Given the description of an element on the screen output the (x, y) to click on. 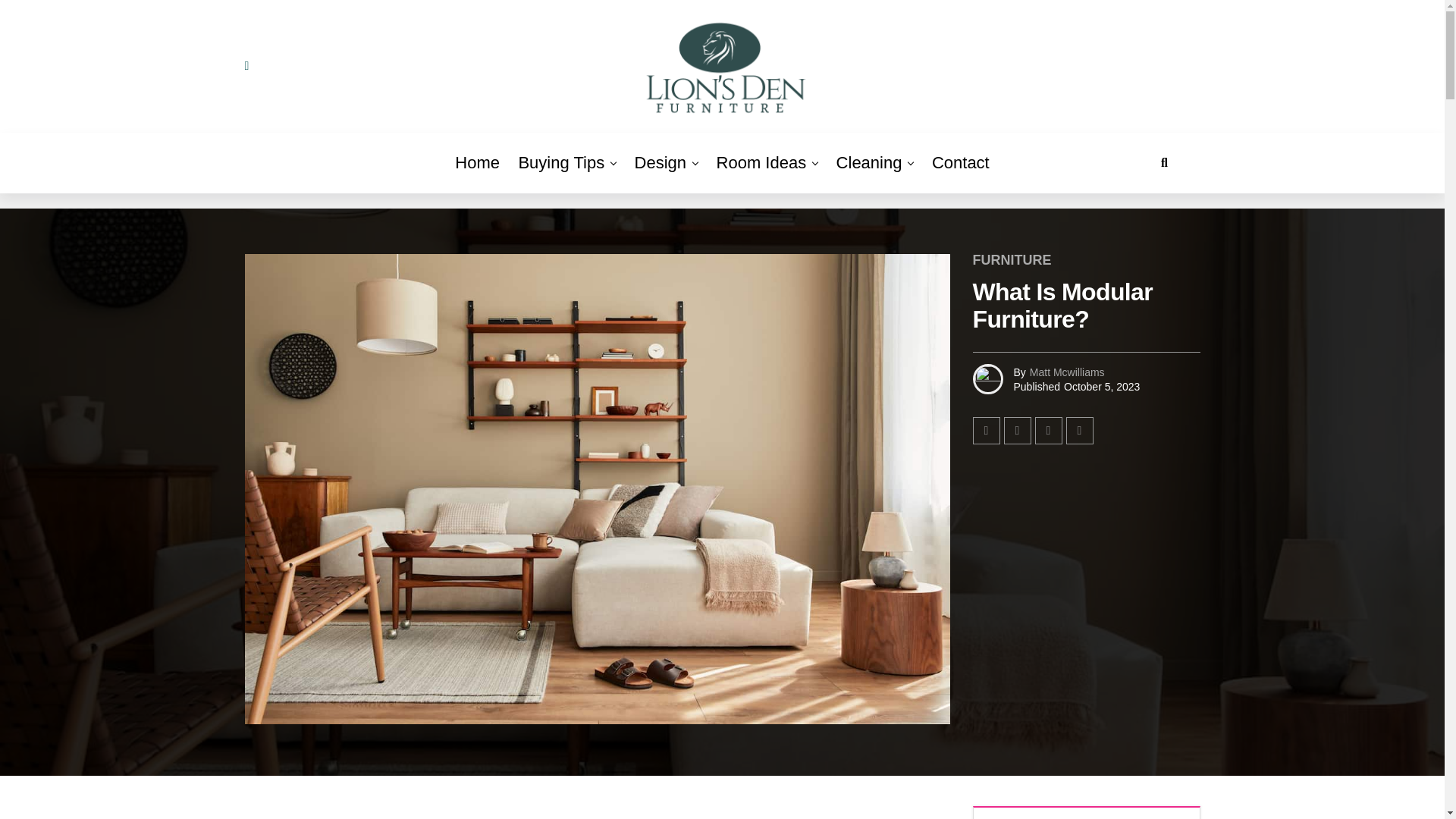
Cleaning (869, 162)
Share on Facebook (985, 430)
FURNITURE (1011, 259)
Design (660, 162)
Contact (960, 162)
Tweet This Post (1017, 430)
Posts by Matt Mcwilliams (1067, 371)
Home (476, 162)
Buying Tips (561, 162)
Room Ideas (761, 162)
